Given the description of an element on the screen output the (x, y) to click on. 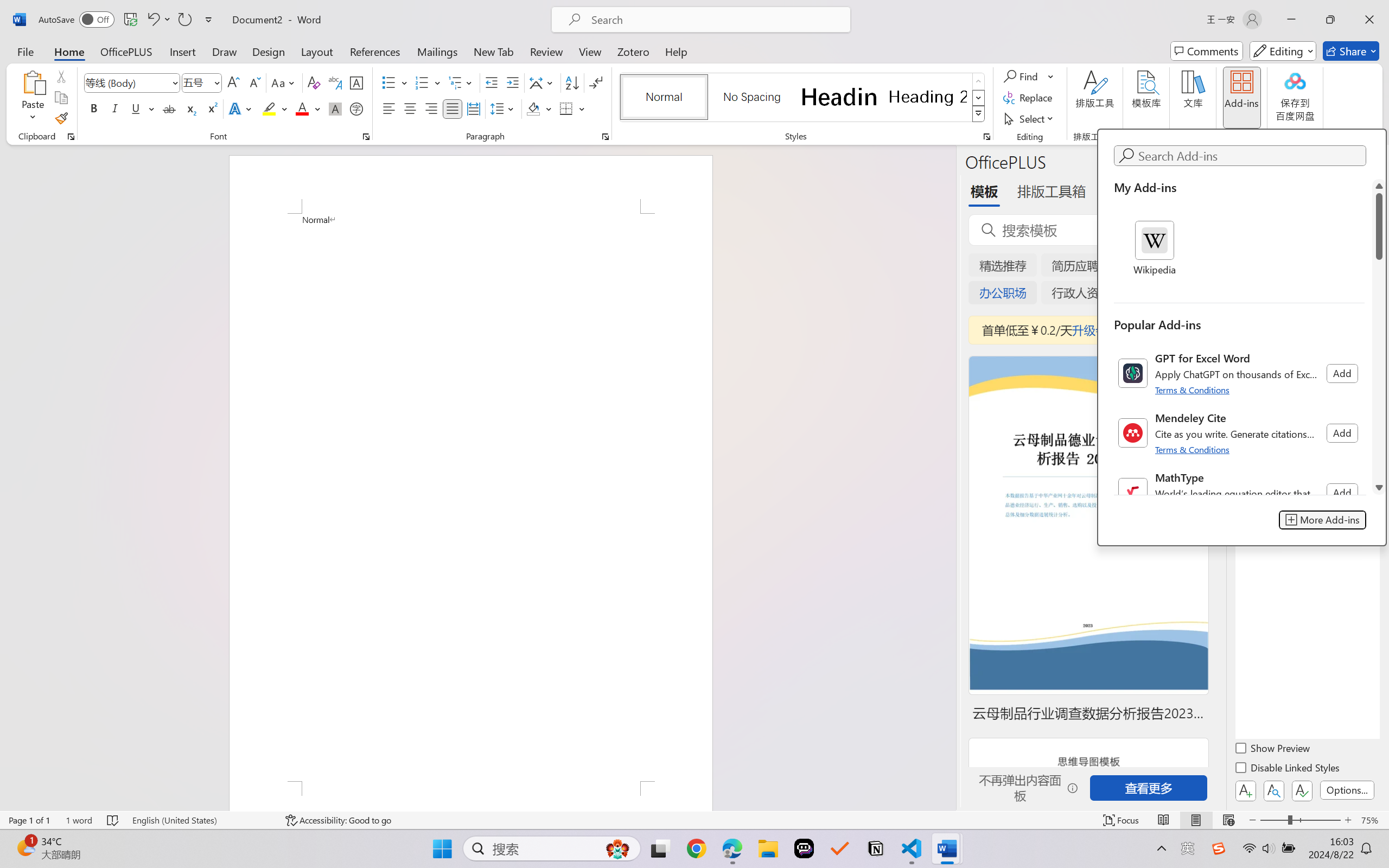
Character Border (356, 82)
Mode (1283, 50)
Font Size (196, 82)
Cut (60, 75)
Font Size (201, 82)
Print Layout (1196, 819)
Underline (135, 108)
More Add-ins (1322, 519)
Change Case (284, 82)
Office Clipboard... (70, 136)
Undo Apply Quick Style (158, 19)
AutomationID: DynamicSearchBoxGleamImage (617, 848)
Borders (571, 108)
Mailings (437, 51)
